Given the description of an element on the screen output the (x, y) to click on. 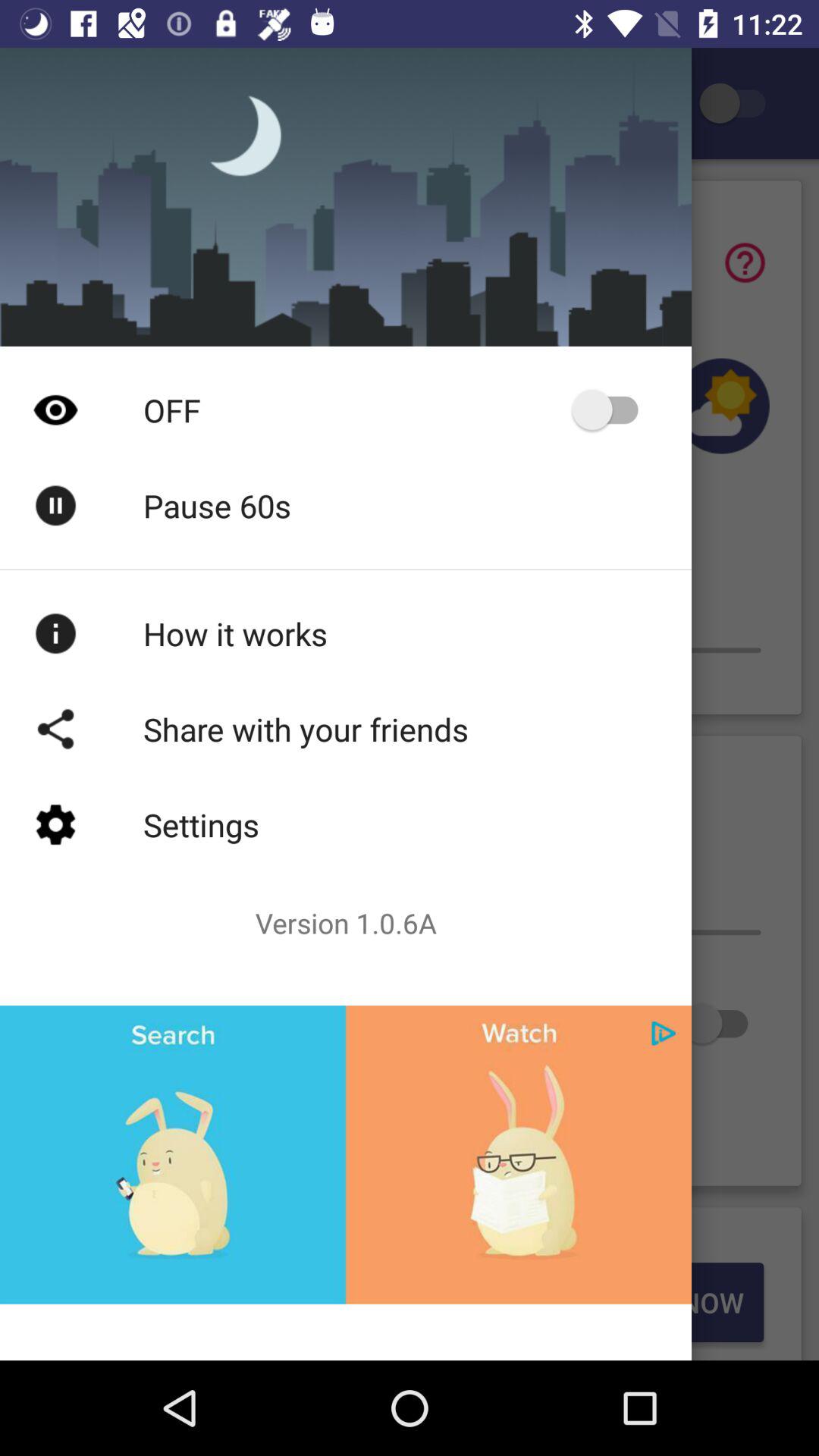
icon page (663, 1033)
